Given the description of an element on the screen output the (x, y) to click on. 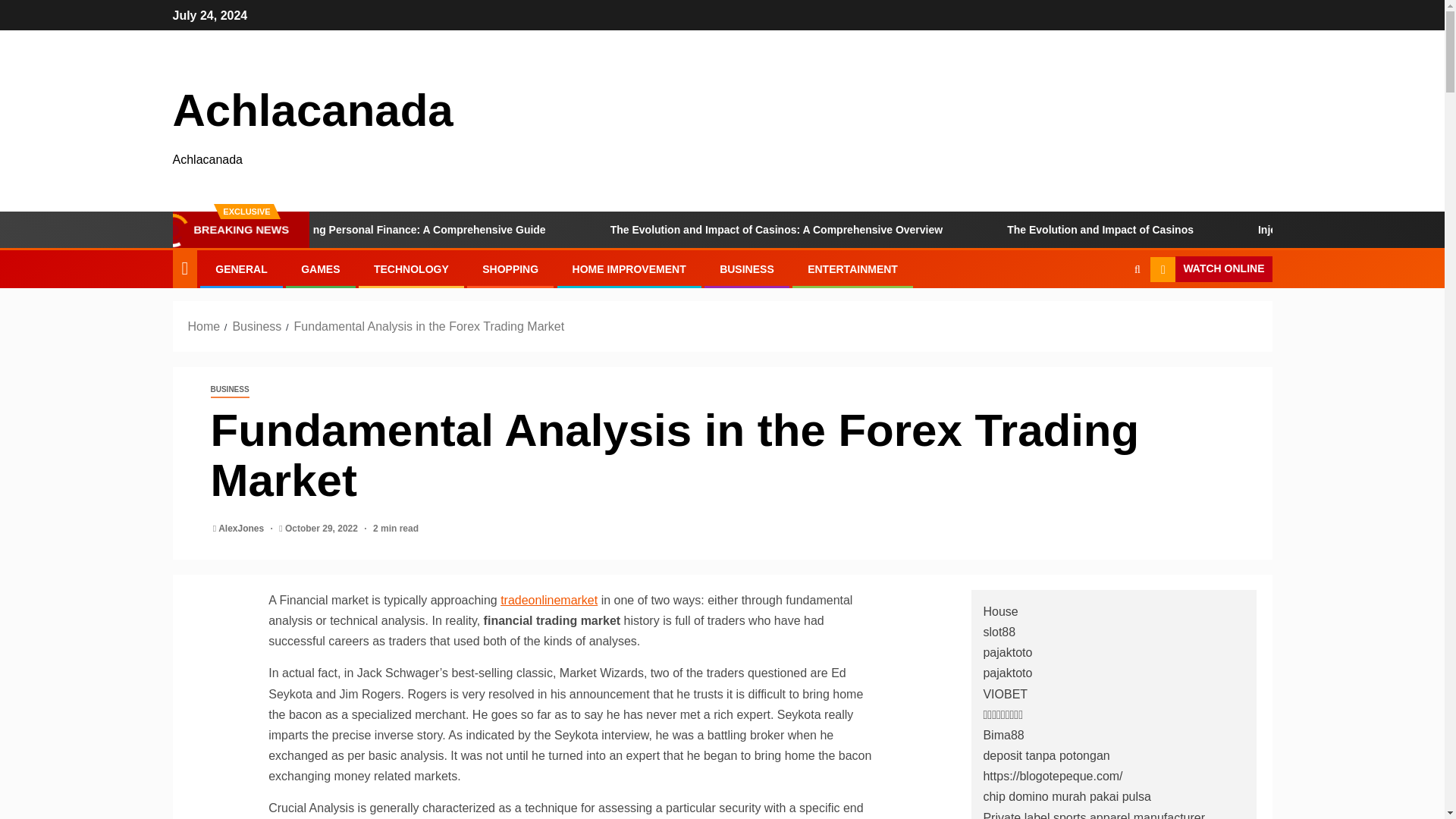
Search (1107, 315)
AlexJones (242, 528)
Understanding Personal Finance: A Comprehensive Guide (490, 229)
TECHNOLOGY (411, 268)
Business (256, 326)
tradeonlinemarket (548, 599)
GAMES (320, 268)
Fundamental Analysis in the Forex Trading Market (429, 326)
Achlacanada (312, 110)
GENERAL (240, 268)
BUSINESS (746, 268)
WATCH ONLINE (1210, 268)
The Evolution and Impact of Casinos (1190, 229)
ENTERTAINMENT (853, 268)
